Given the description of an element on the screen output the (x, y) to click on. 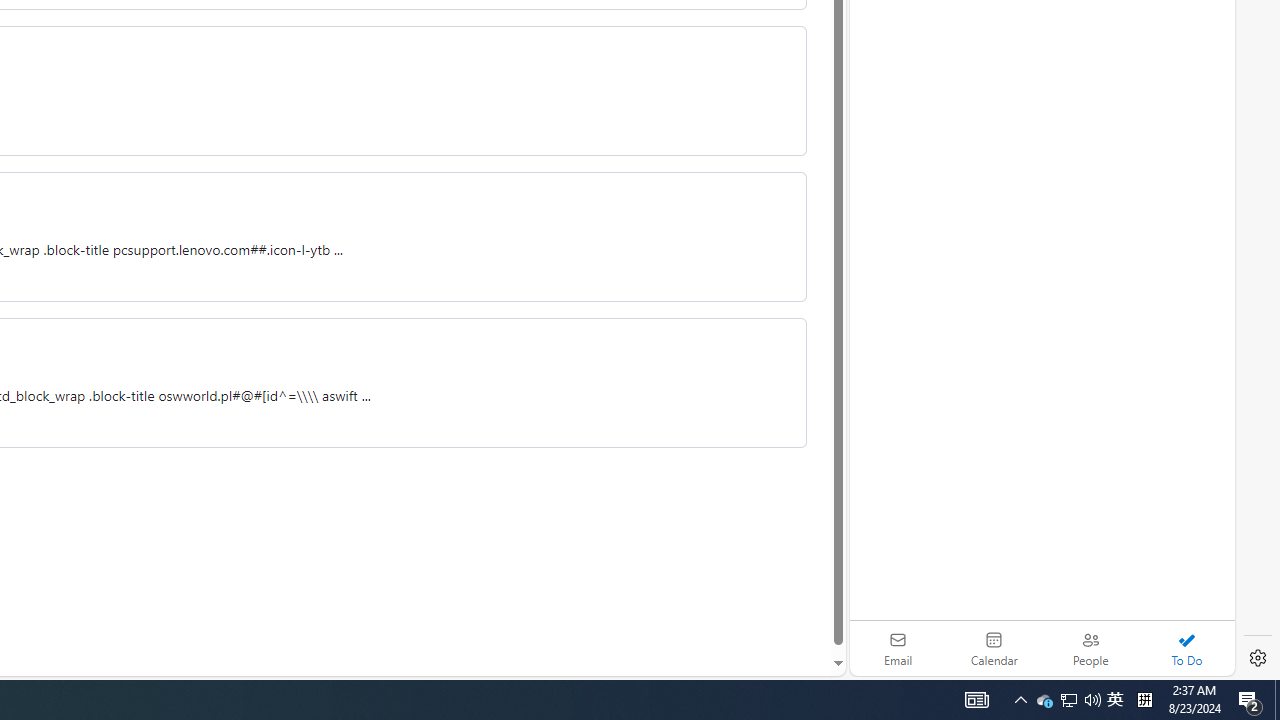
To Do (1186, 648)
People (1090, 648)
Calendar. Date today is 22 (994, 648)
Email (898, 648)
